Given the description of an element on the screen output the (x, y) to click on. 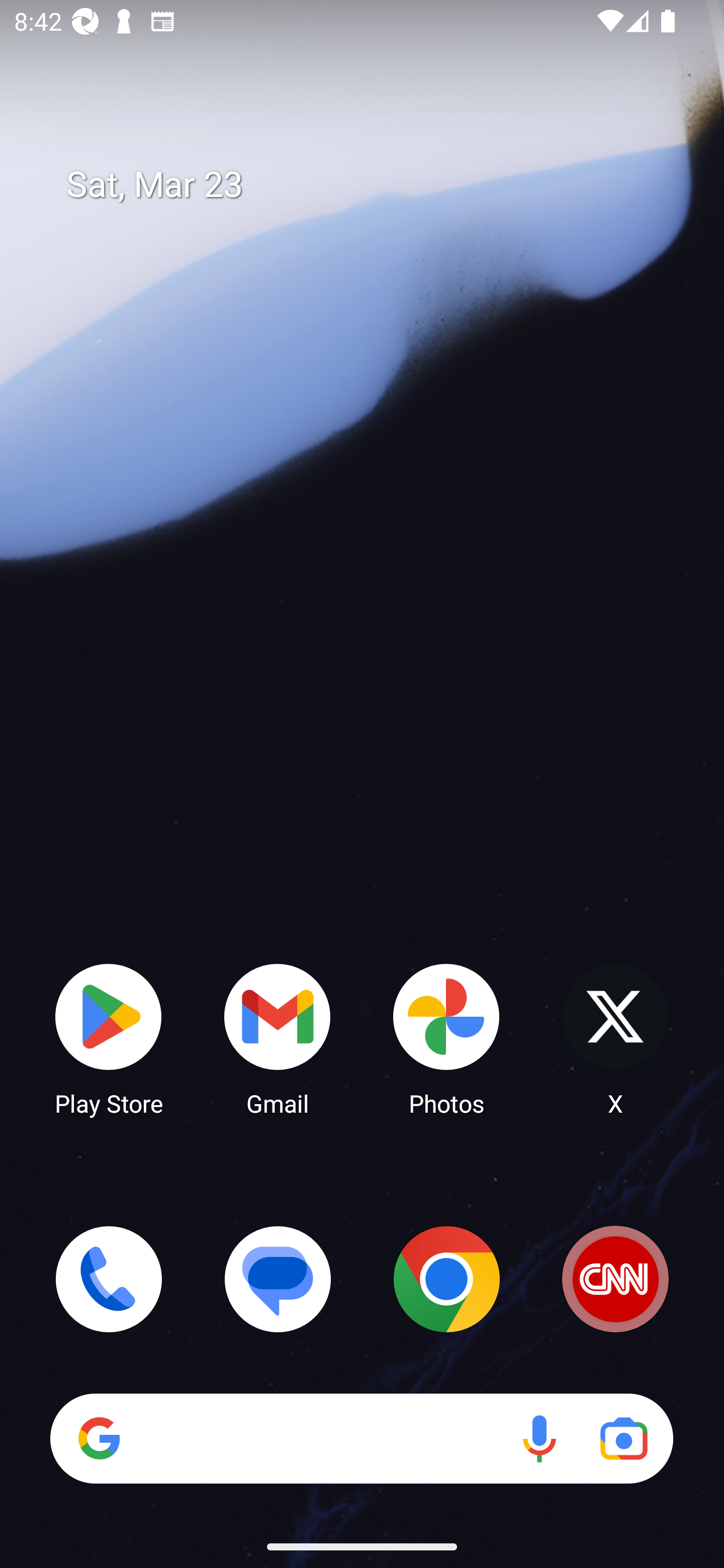
Sat, Mar 23 (375, 184)
Play Store (108, 1038)
Gmail (277, 1038)
Photos (445, 1038)
X (615, 1038)
Phone (108, 1279)
Messages (277, 1279)
Chrome (446, 1279)
CNN Predicted app: CNN (615, 1279)
Voice search (539, 1438)
Google Lens (623, 1438)
